Given the description of an element on the screen output the (x, y) to click on. 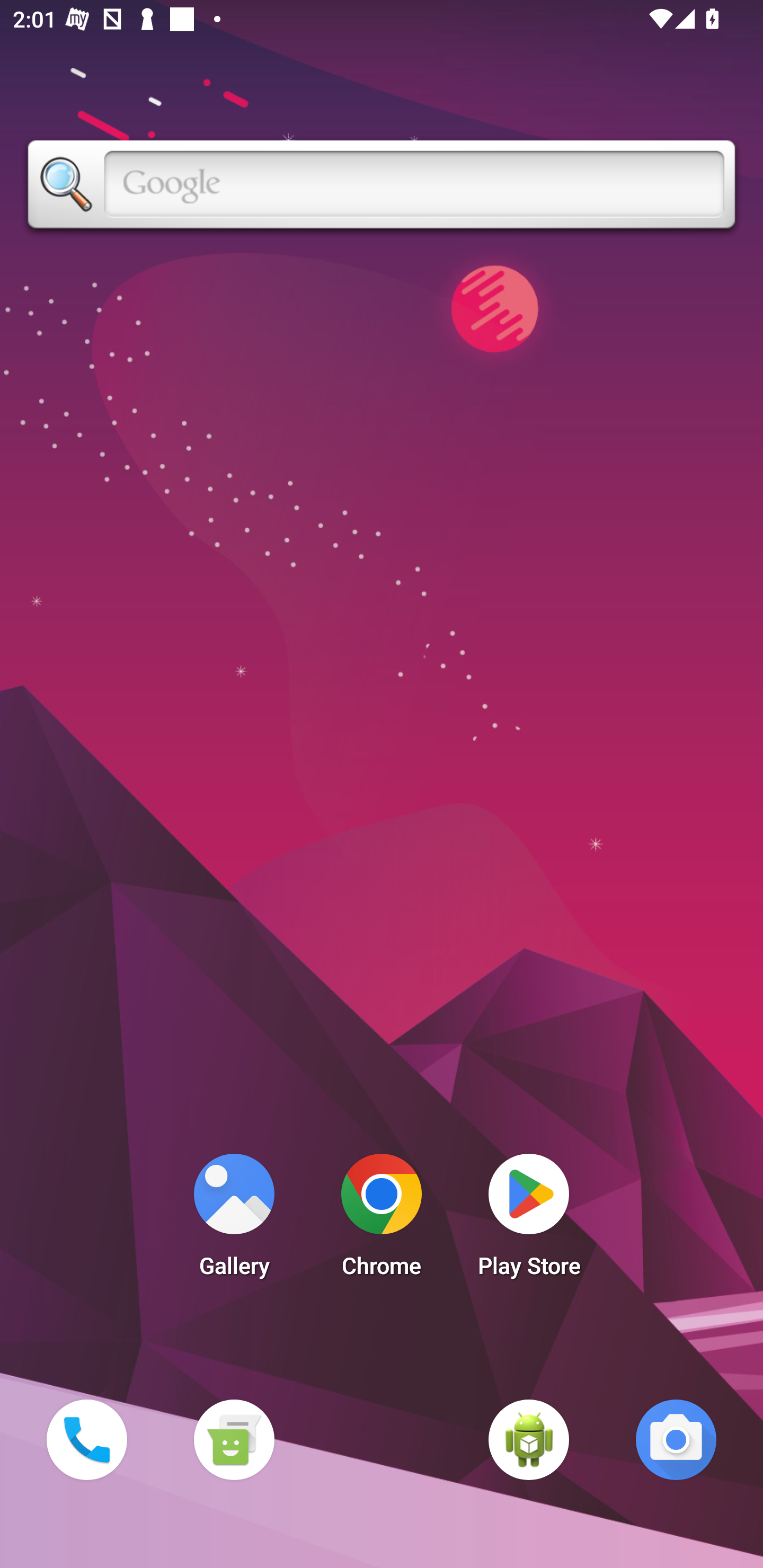
Gallery (233, 1220)
Chrome (381, 1220)
Play Store (528, 1220)
Phone (86, 1439)
Messaging (233, 1439)
WebView Browser Tester (528, 1439)
Camera (676, 1439)
